Given the description of an element on the screen output the (x, y) to click on. 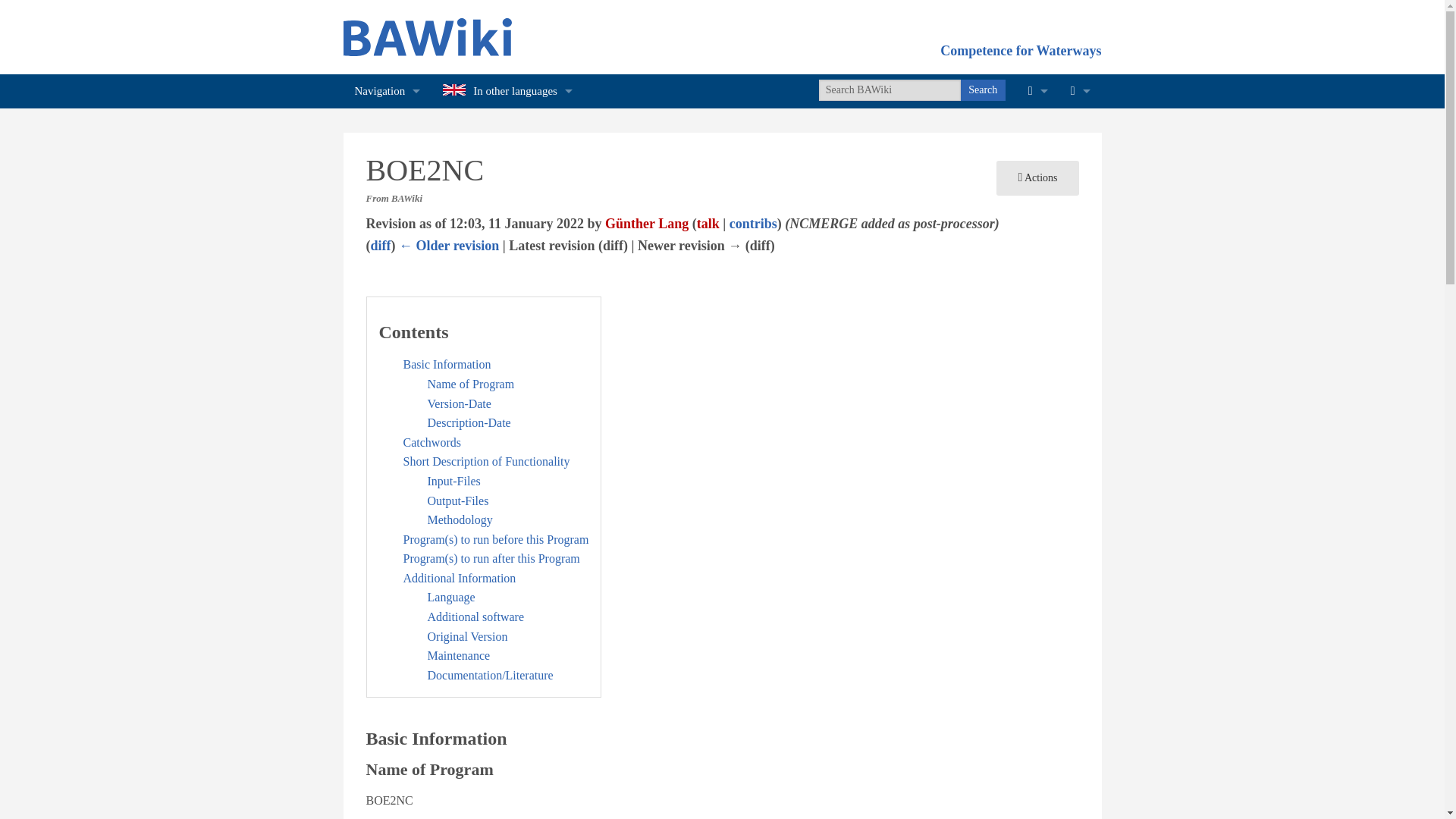
The place to find out (386, 295)
talk (708, 223)
 Actions (1036, 177)
About the project, what you can do, where to find things (386, 159)
More information about this page (1037, 295)
Community portal (386, 159)
Search (983, 89)
What links here (1037, 125)
Random page (386, 261)
Permanent link (1037, 261)
